Given the description of an element on the screen output the (x, y) to click on. 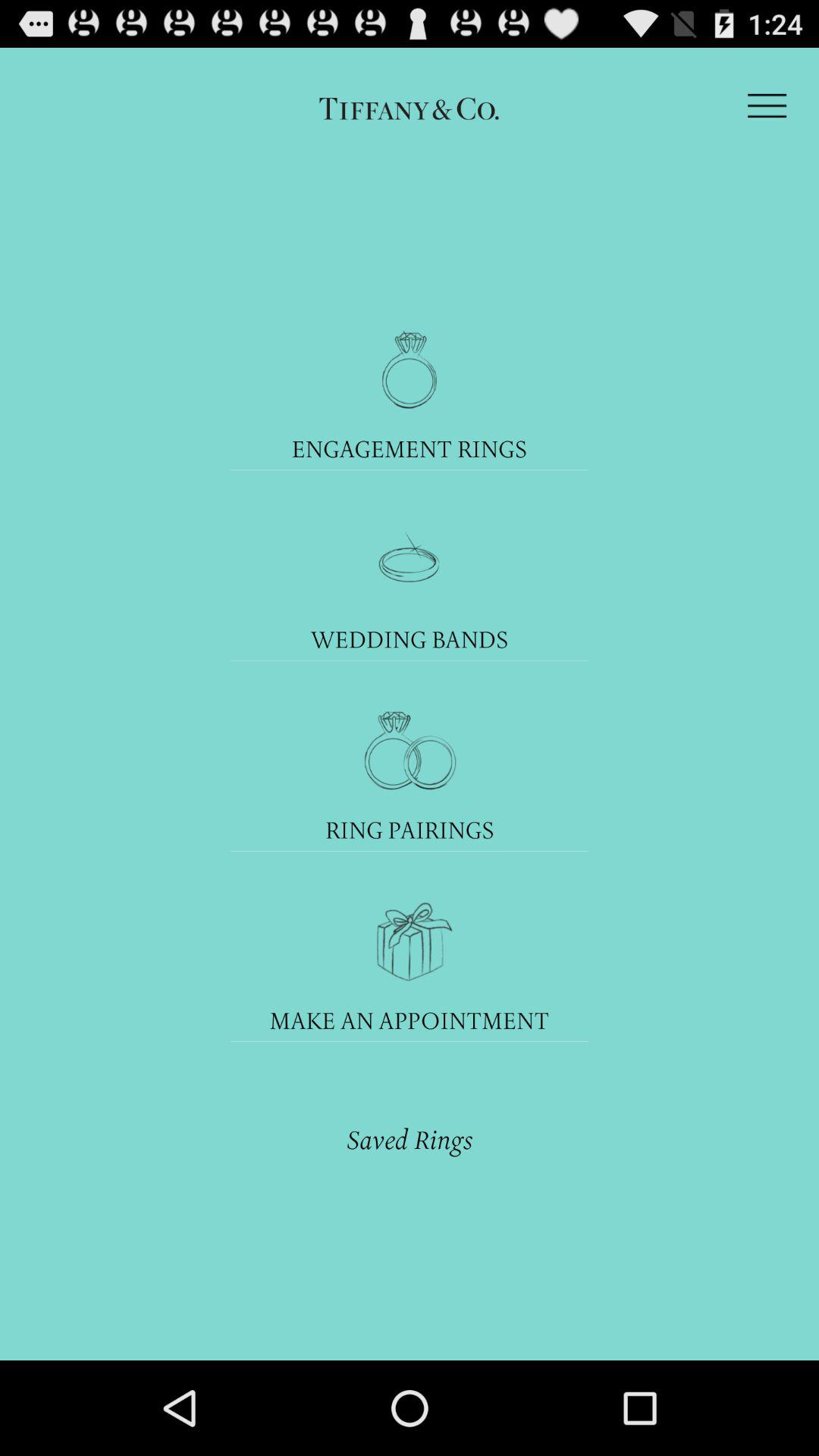
swipe to saved rings item (409, 1139)
